Given the description of an element on the screen output the (x, y) to click on. 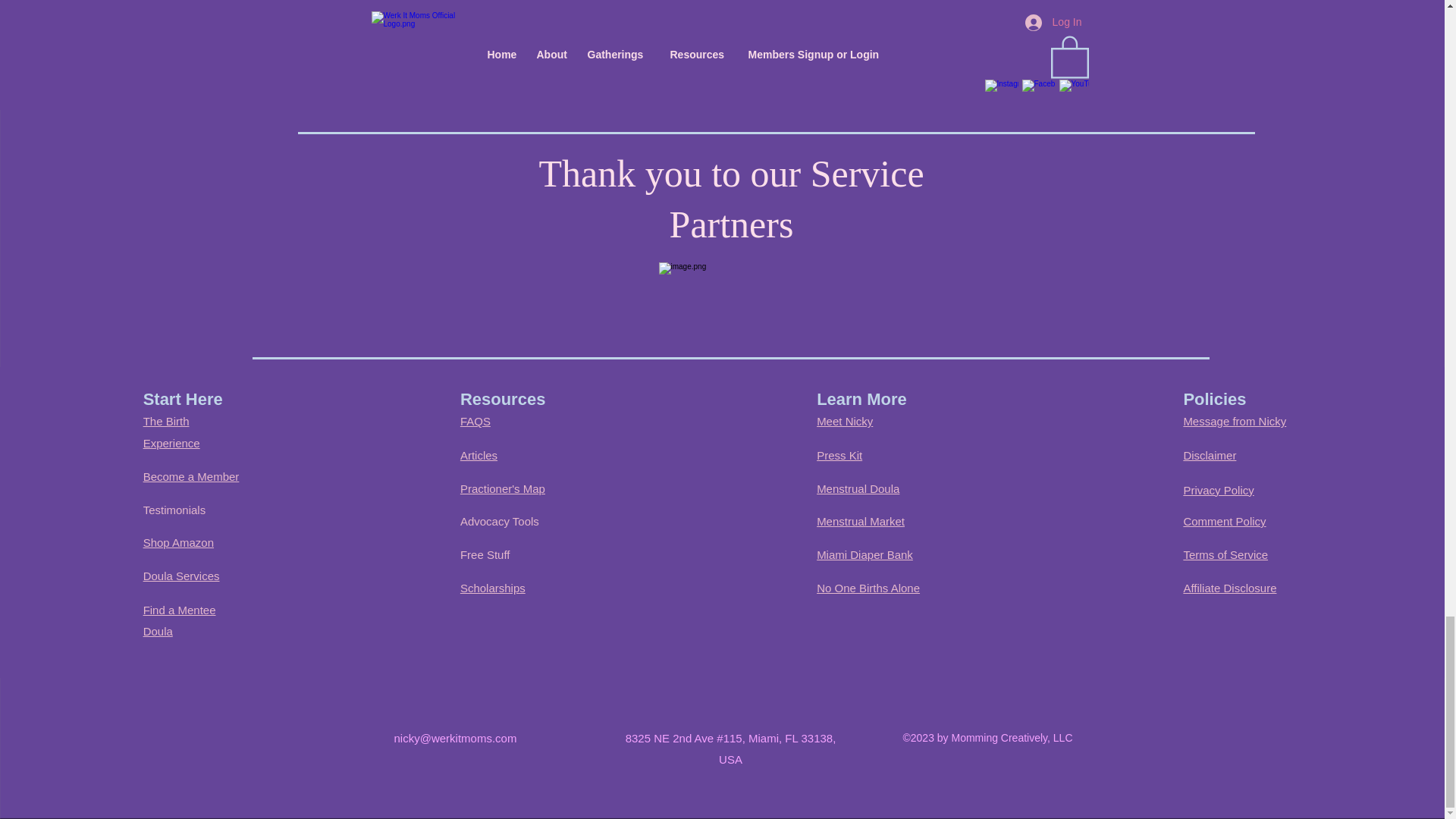
Werk It Moms Official Logo.png (472, 46)
